Given the description of an element on the screen output the (x, y) to click on. 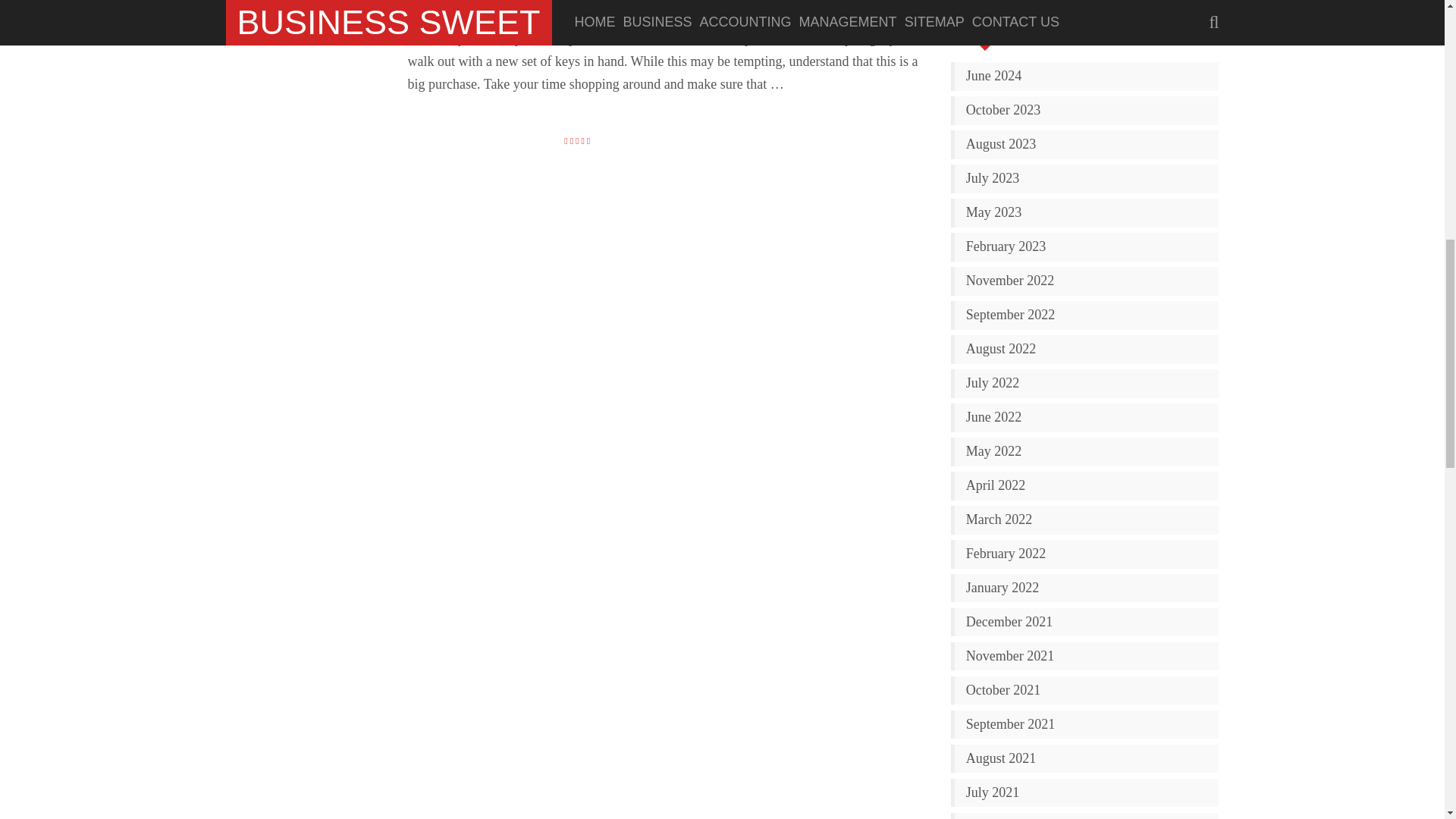
October 2023 (1087, 110)
July 2023 (1087, 178)
September 2022 (1087, 315)
June 2024 (1087, 76)
February 2023 (1087, 246)
May 2023 (1087, 212)
August 2023 (1087, 144)
November 2022 (1087, 280)
